Given the description of an element on the screen output the (x, y) to click on. 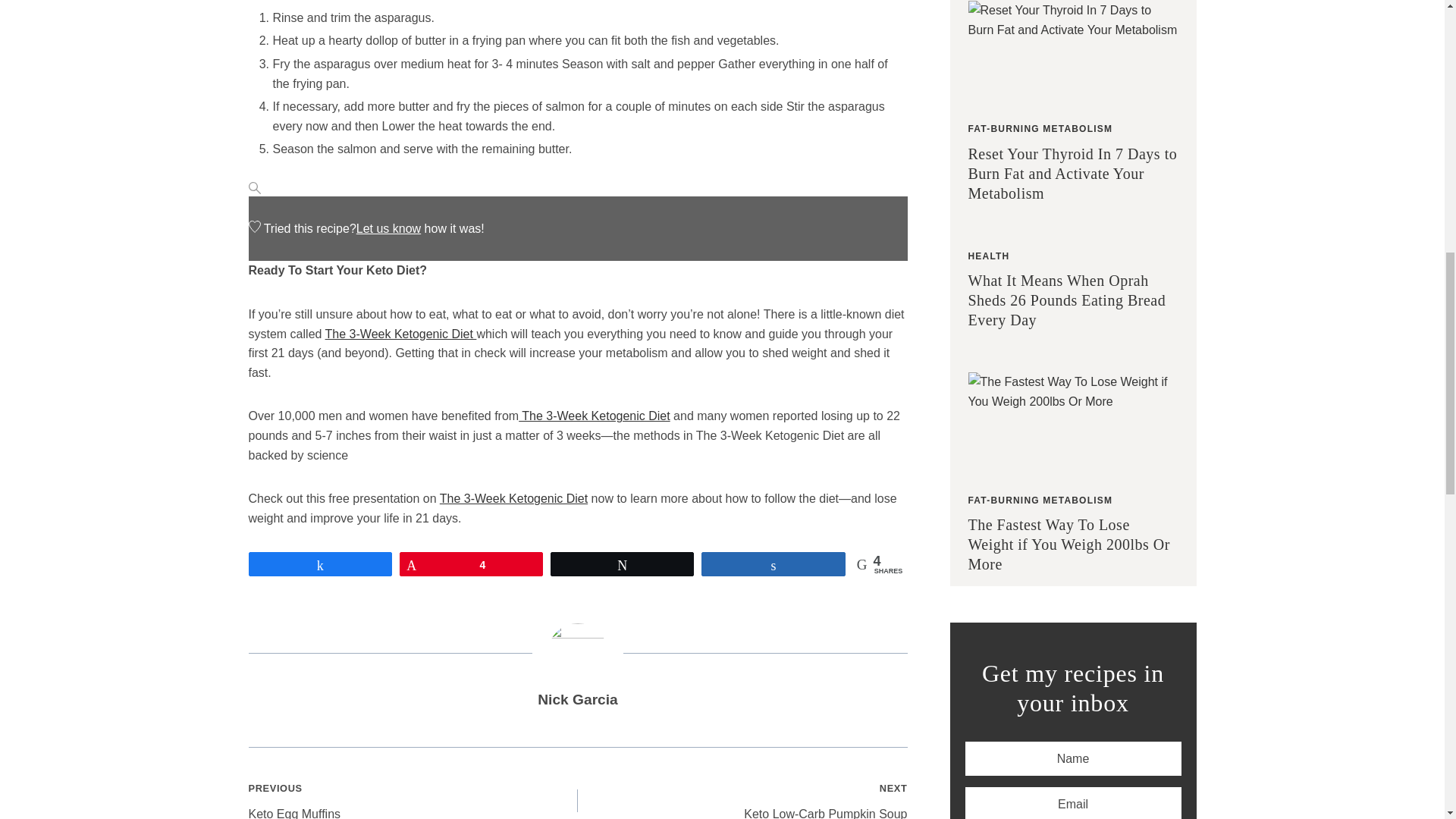
Posts by Nick Garcia (577, 699)
